Given the description of an element on the screen output the (x, y) to click on. 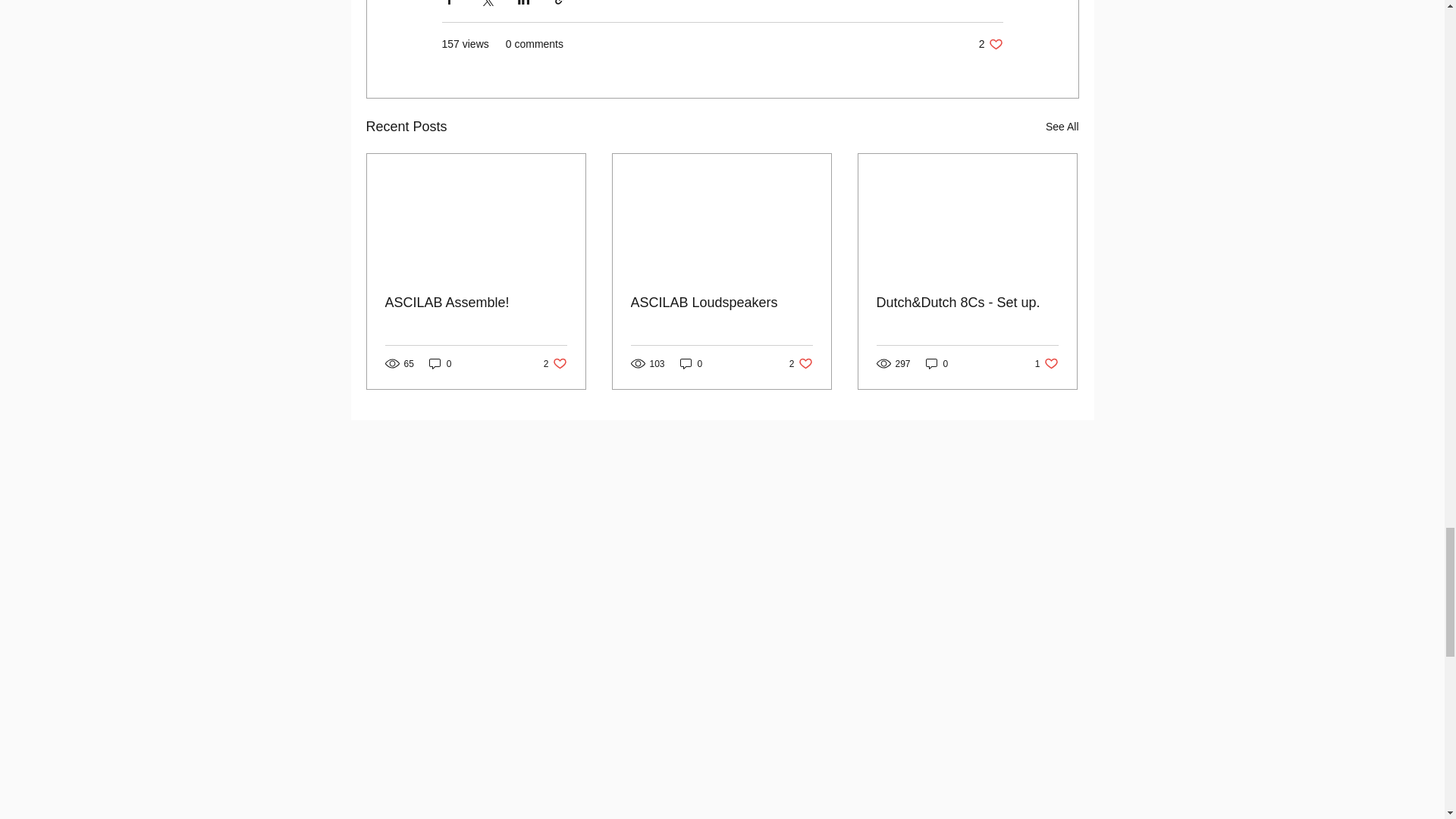
ASCILAB Loudspeakers (721, 302)
0 (937, 363)
ASCILAB Assemble! (990, 43)
0 (555, 363)
See All (476, 302)
0 (691, 363)
